Given the description of an element on the screen output the (x, y) to click on. 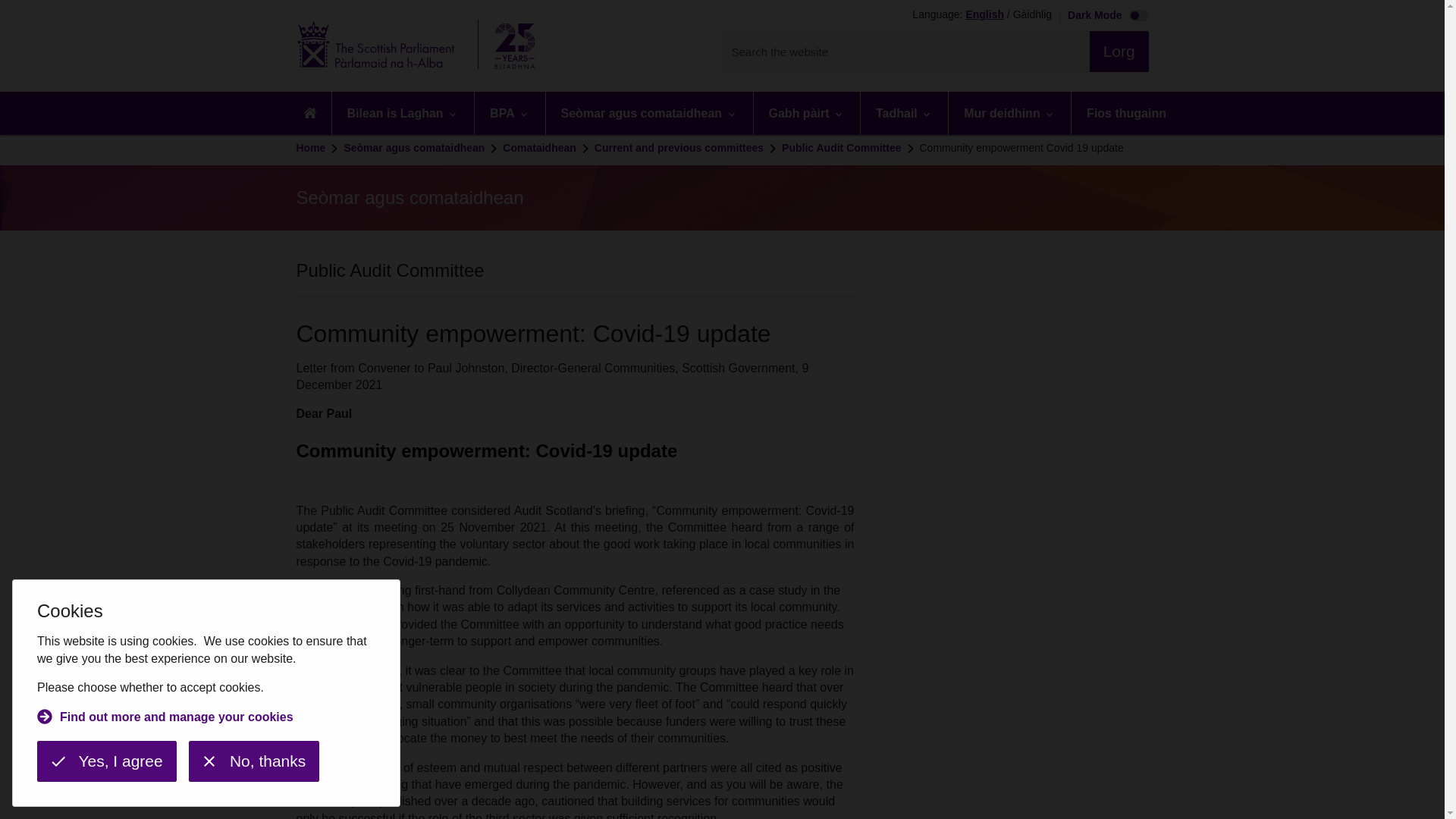
No, thanks (252, 761)
Bilean is Laghan (402, 113)
Scottish Parliament Website home (419, 45)
Lorg (1118, 51)
Find out more and manage your cookies (165, 718)
BPA (509, 113)
Yes, I agree (106, 761)
English (984, 15)
Dark Mode (1103, 16)
